Given the description of an element on the screen output the (x, y) to click on. 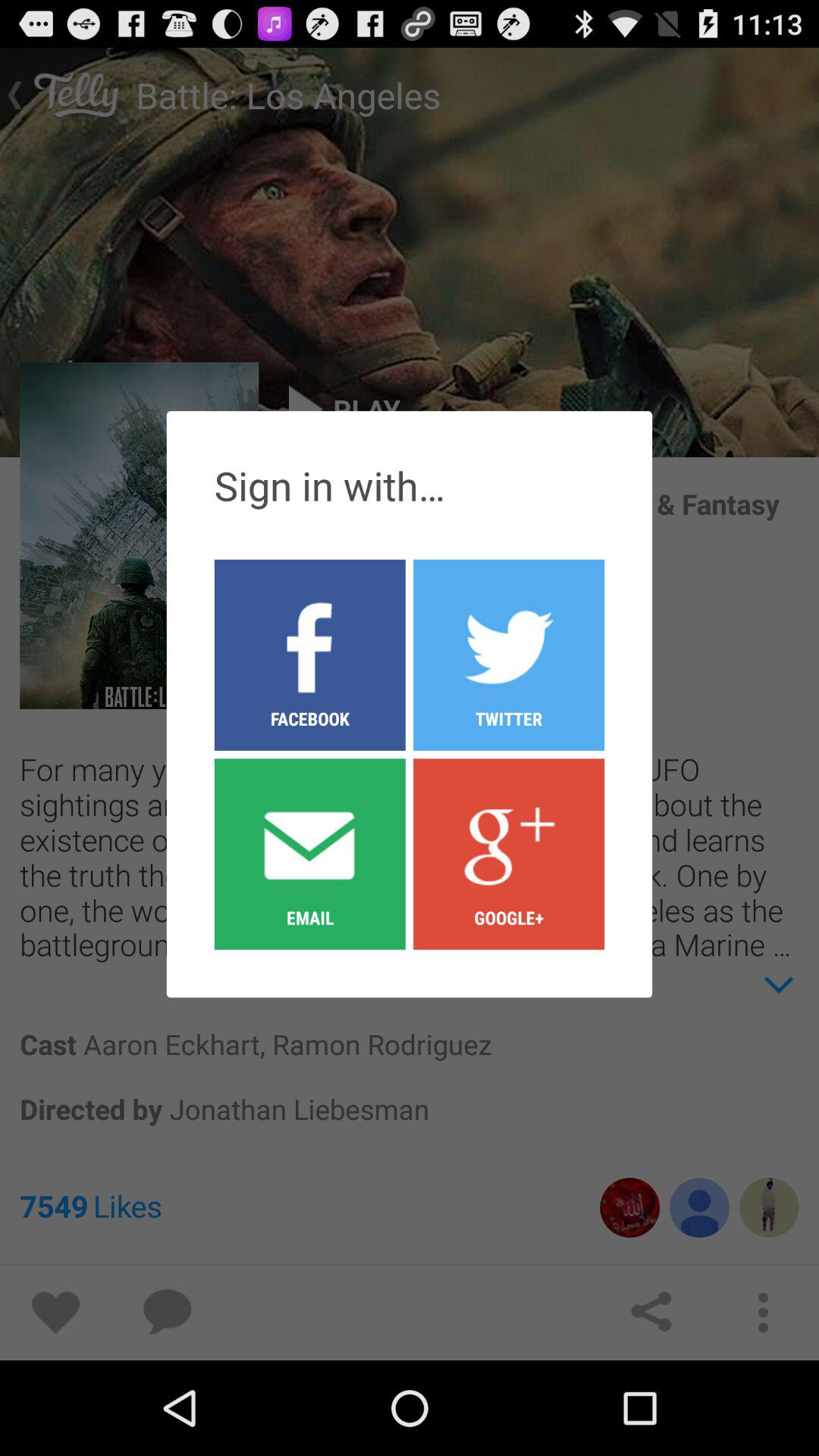
click the icon below facebook icon (309, 853)
